Given the description of an element on the screen output the (x, y) to click on. 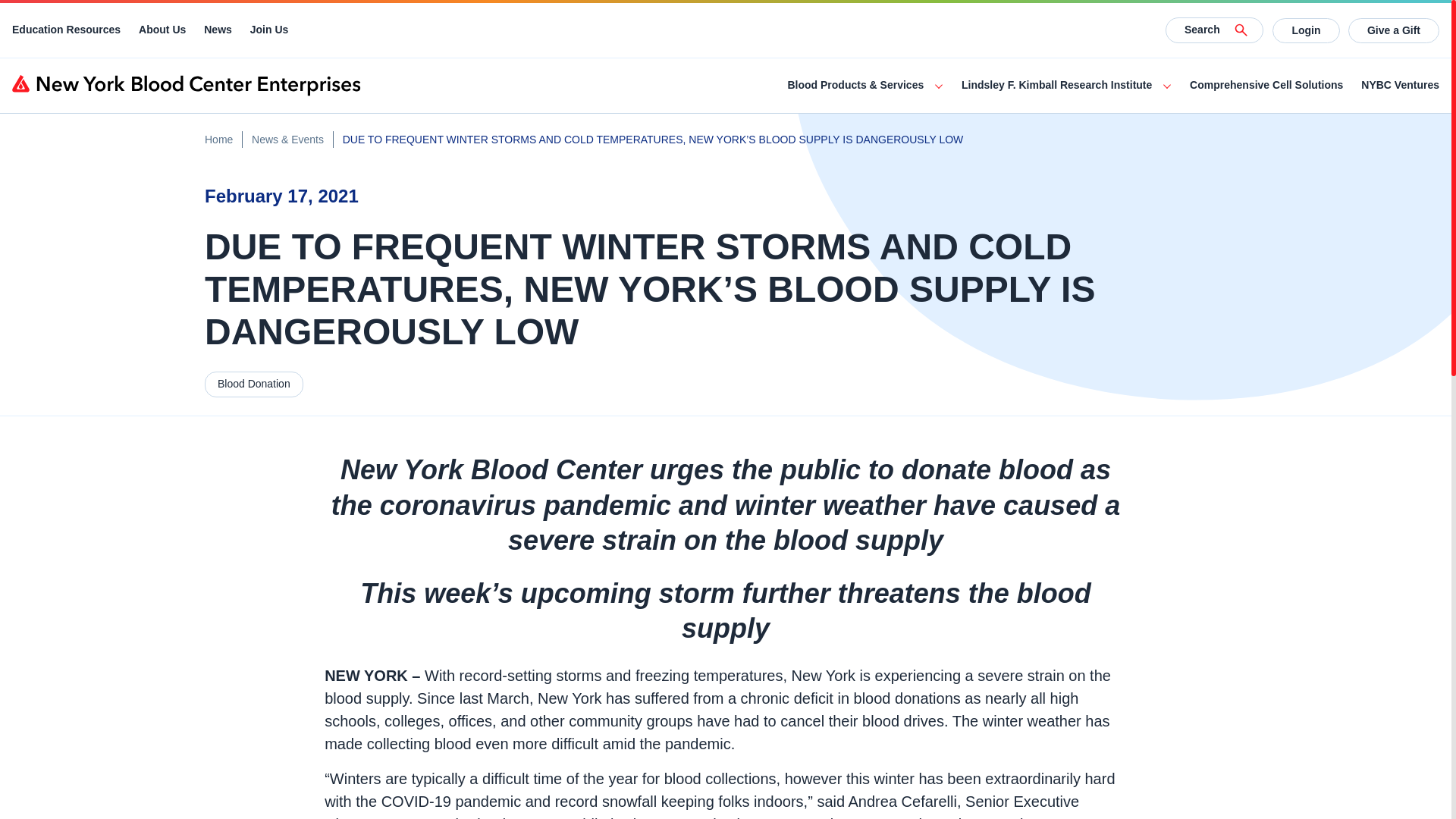
Join Us (269, 30)
News (217, 30)
About Us (162, 30)
NYBC Ventures (1400, 85)
Blood Donation (253, 384)
Lindsley F. Kimball Research Institute (1055, 85)
Home (218, 139)
Comprehensive Cell Solutions (1265, 85)
Login (1305, 30)
Education Resources (65, 30)
